Given the description of an element on the screen output the (x, y) to click on. 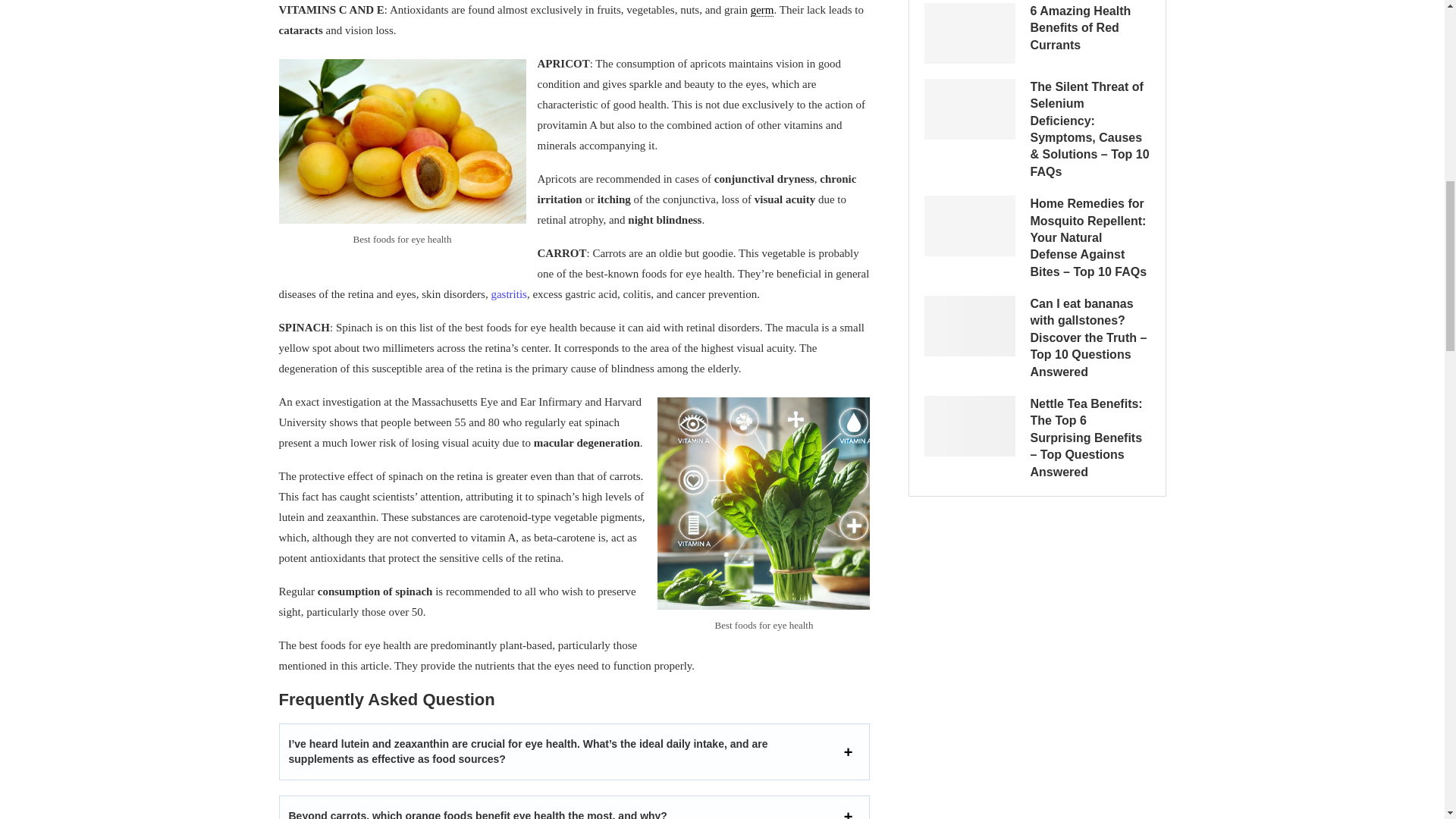
germ (762, 10)
gastritis (508, 294)
